Given the description of an element on the screen output the (x, y) to click on. 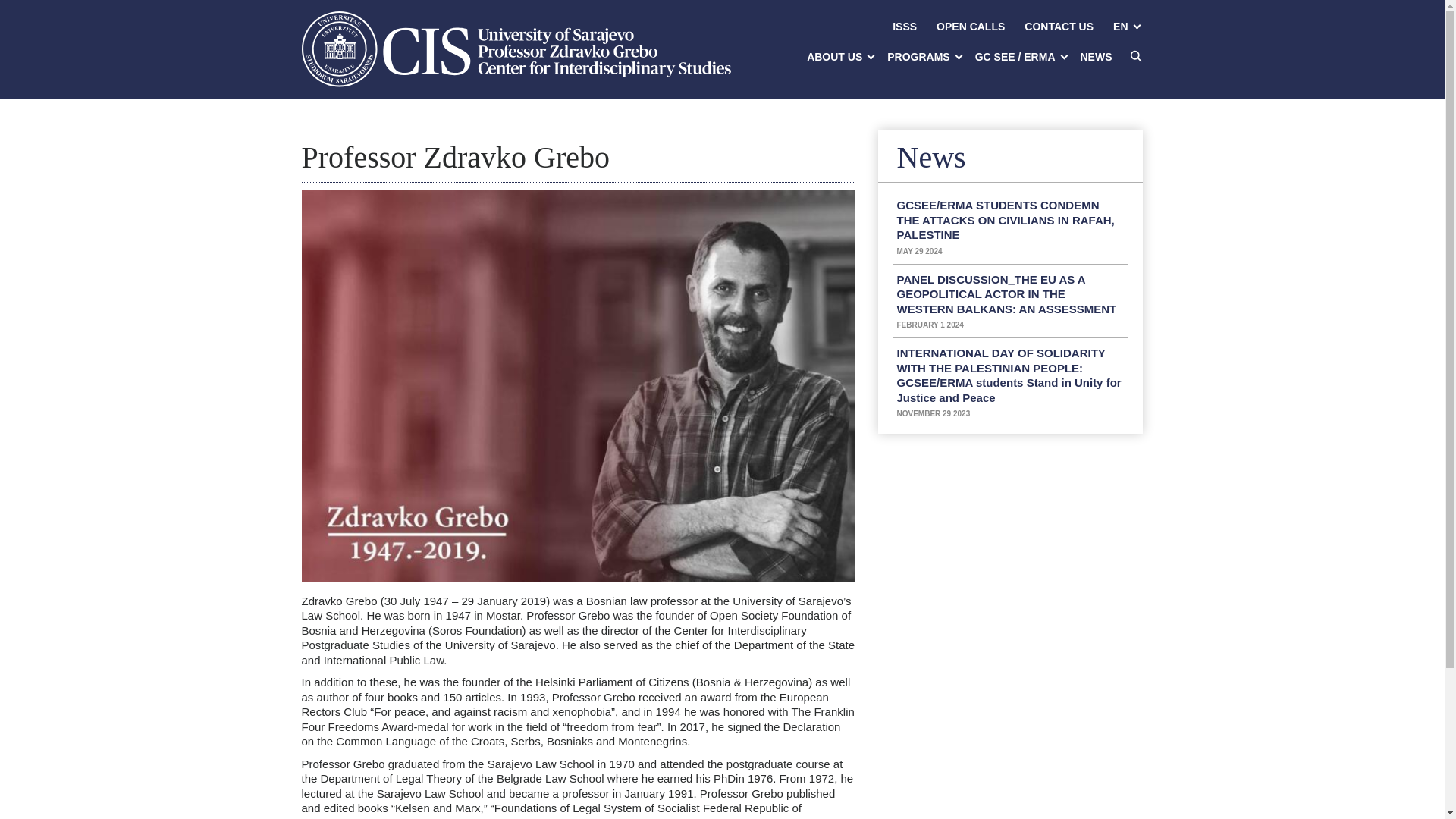
ABOUT US (836, 56)
CIS (515, 48)
ISSS (904, 26)
OPEN CALLS (970, 26)
CONTACT US (1058, 26)
PROGRAMS (920, 56)
EN (1122, 26)
NEWS (1096, 56)
